Given the description of an element on the screen output the (x, y) to click on. 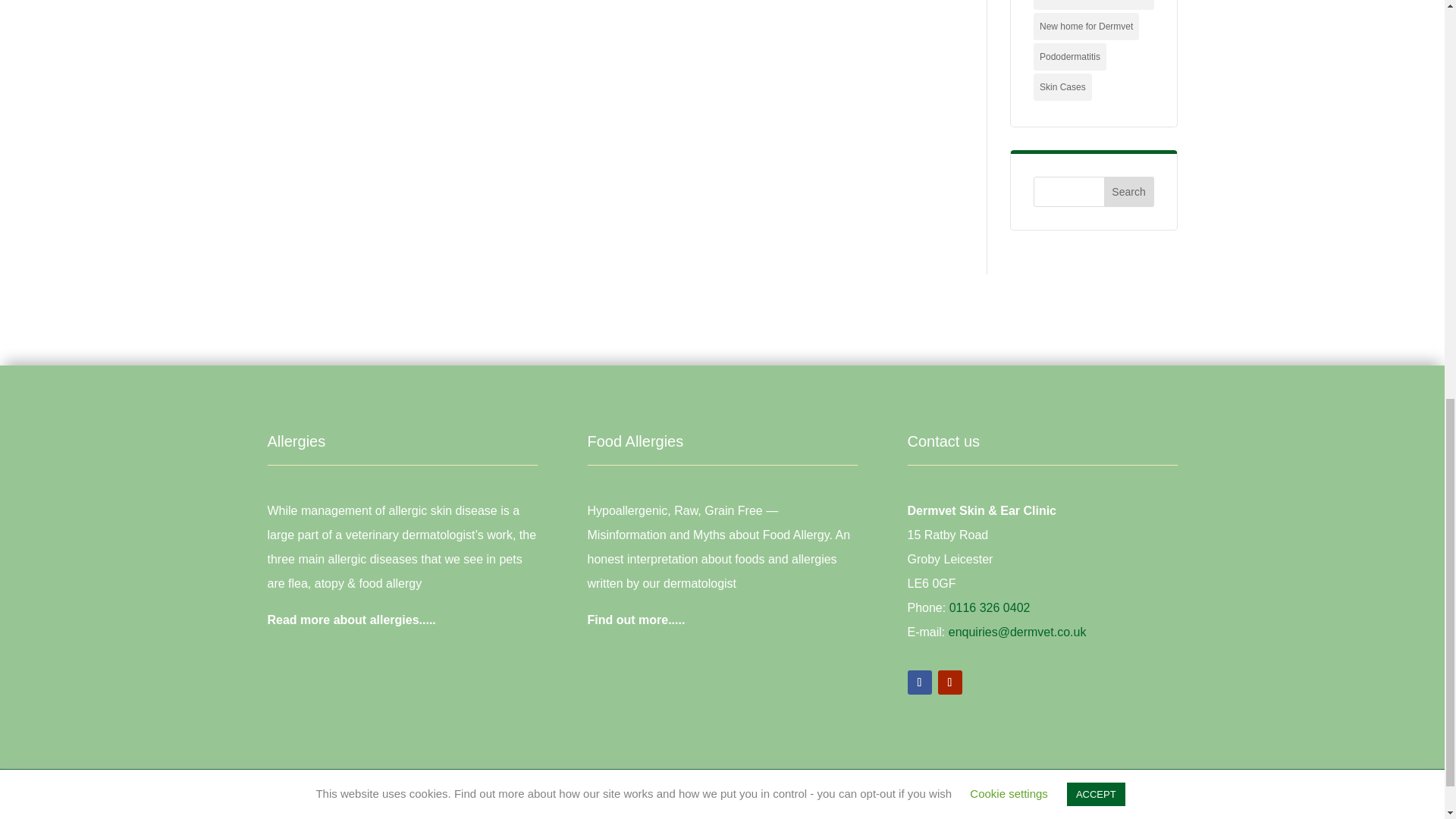
Follow on Youtube (948, 682)
Search (1128, 191)
Follow on Facebook (919, 682)
